Given the description of an element on the screen output the (x, y) to click on. 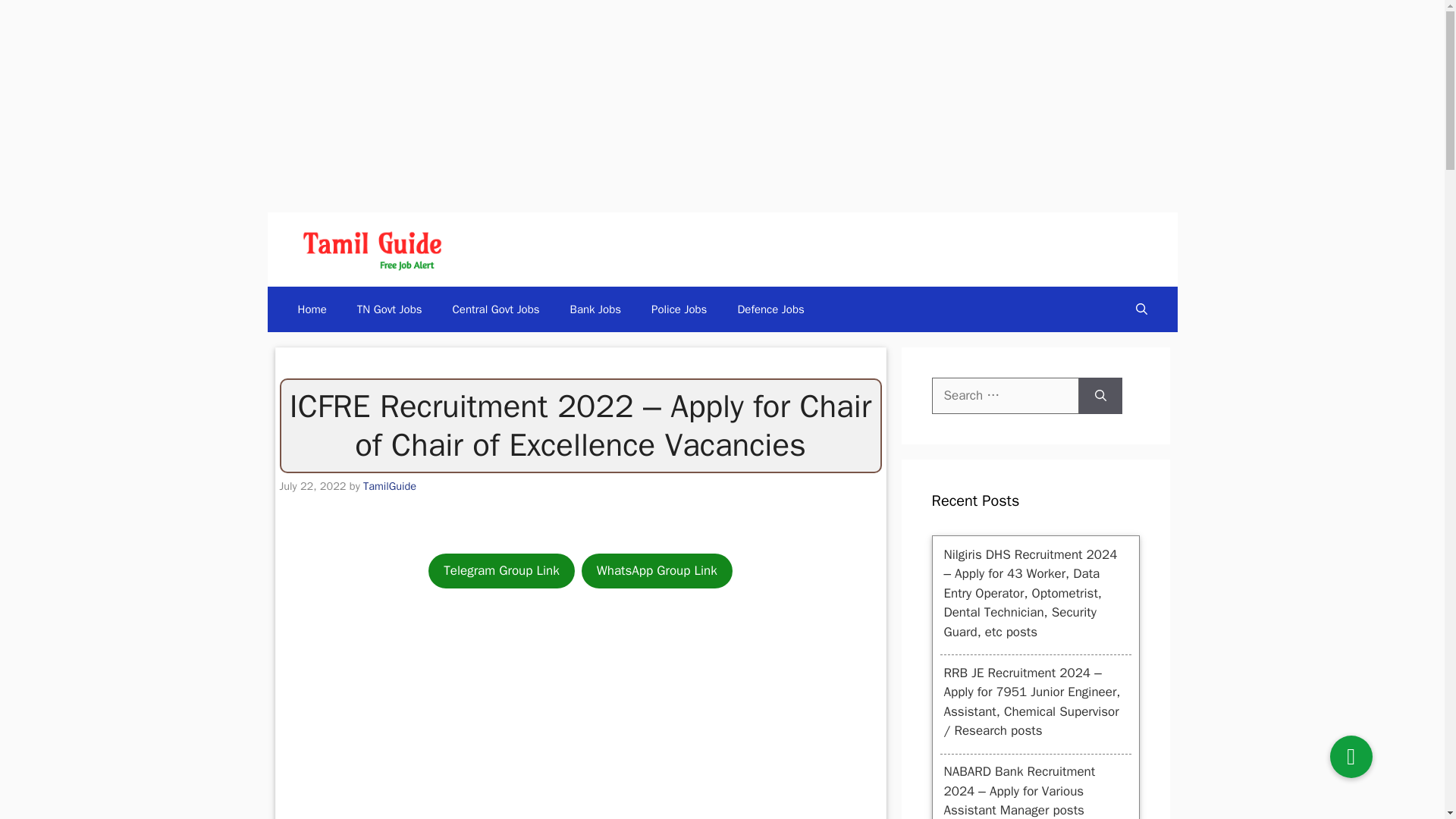
TN Govt Jobs (390, 309)
Police Jobs (679, 309)
TamilGuide (389, 486)
Advertisement (579, 717)
Bank Jobs (595, 309)
Telegram Group Link (500, 570)
Home (311, 309)
Defence Jobs (770, 309)
View all posts by TamilGuide (389, 486)
Central Govt Jobs (496, 309)
Search for: (1004, 395)
WhatsApp Group Link (656, 570)
